Given the description of an element on the screen output the (x, y) to click on. 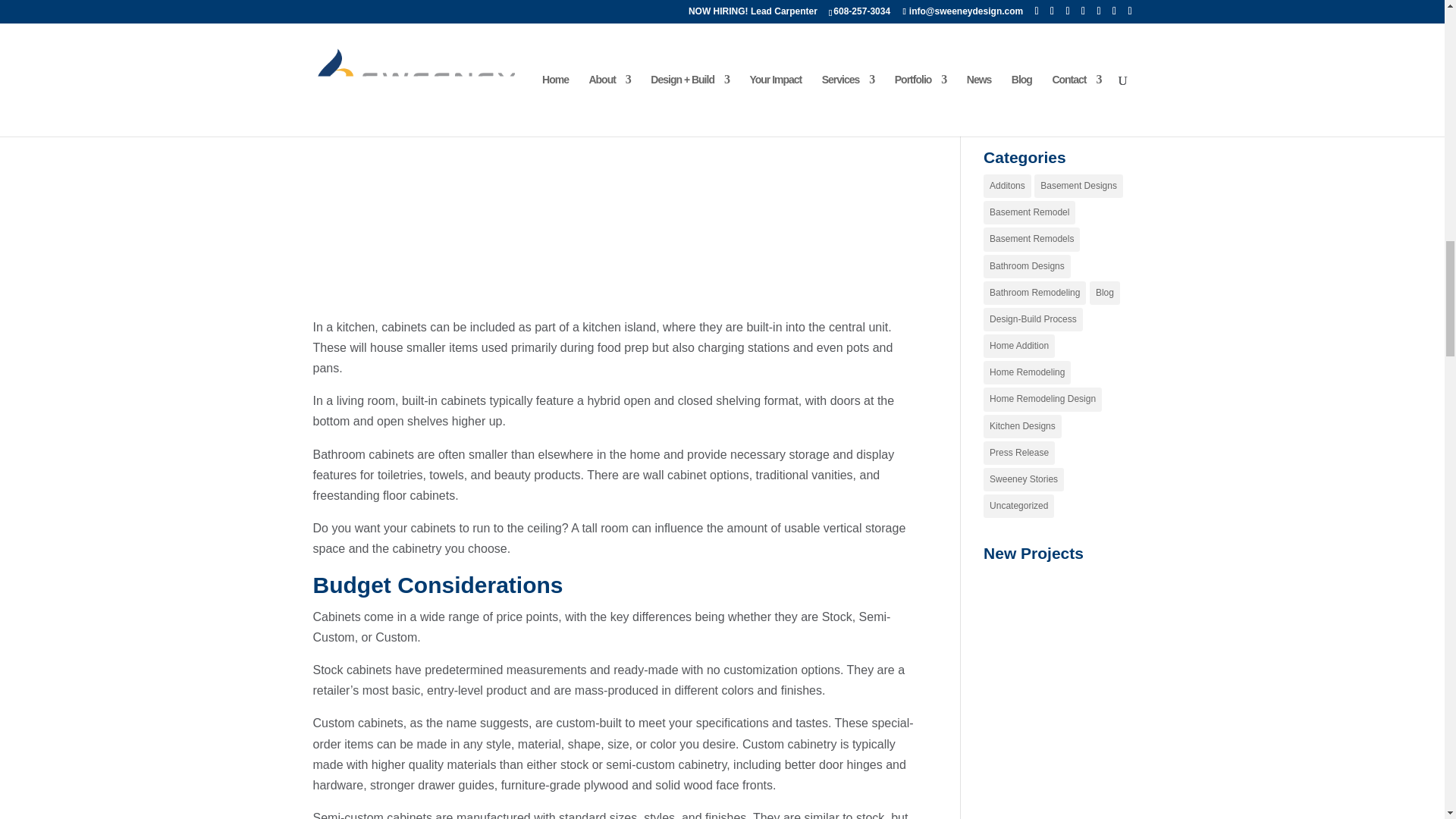
Sweeney Design Remodel (1110, 588)
Sweeney Design Remodel (1004, 630)
Sweeney Design Remodel (1004, 588)
Sweeney Design Remodel (1057, 588)
